Given the description of an element on the screen output the (x, y) to click on. 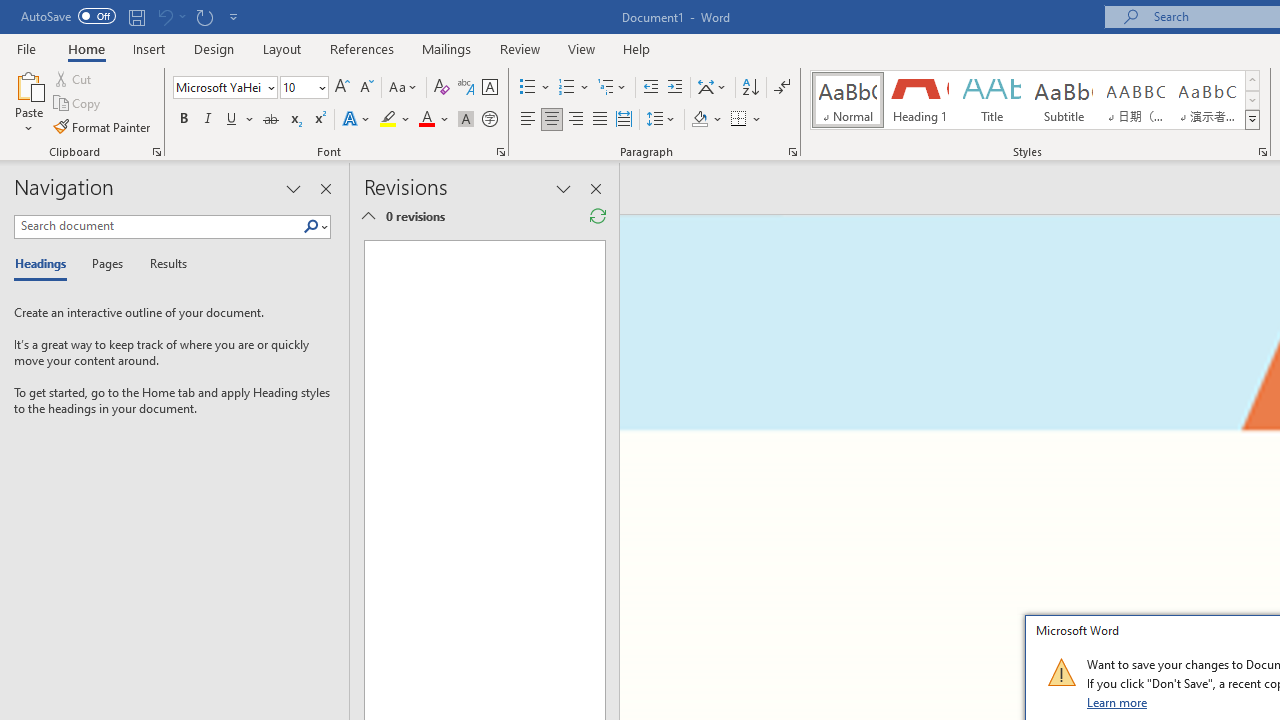
Cut (73, 78)
Search document (157, 226)
Character Shading (465, 119)
Shrink Font (365, 87)
Grow Font (342, 87)
Paragraph... (792, 151)
Font Color (434, 119)
Font Color Red (426, 119)
Copy (78, 103)
Results (161, 264)
